Given the description of an element on the screen output the (x, y) to click on. 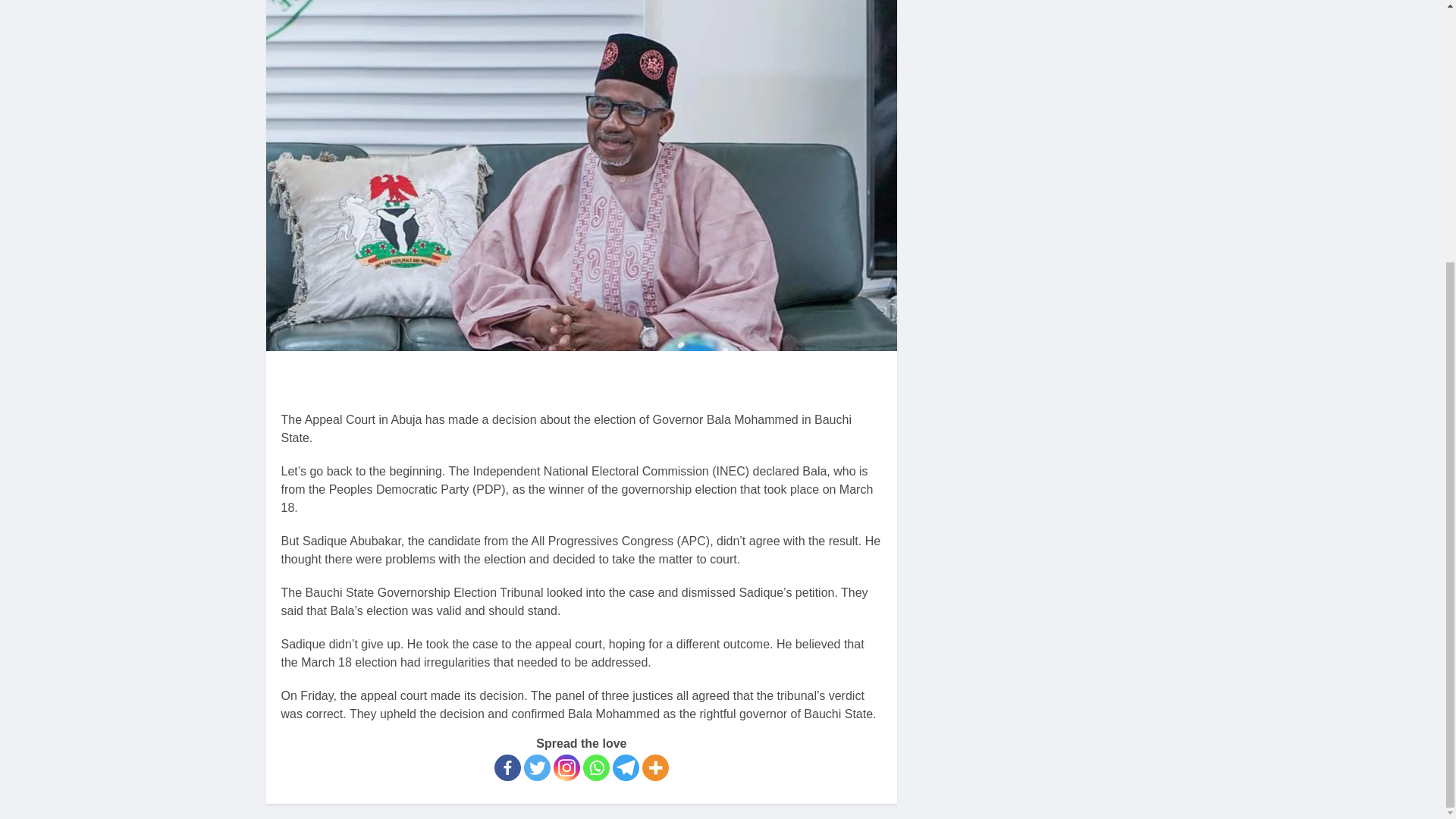
Twitter (537, 767)
Instagram (566, 767)
Facebook (508, 767)
More (655, 767)
Telegram (625, 767)
Whatsapp (596, 767)
